Given the description of an element on the screen output the (x, y) to click on. 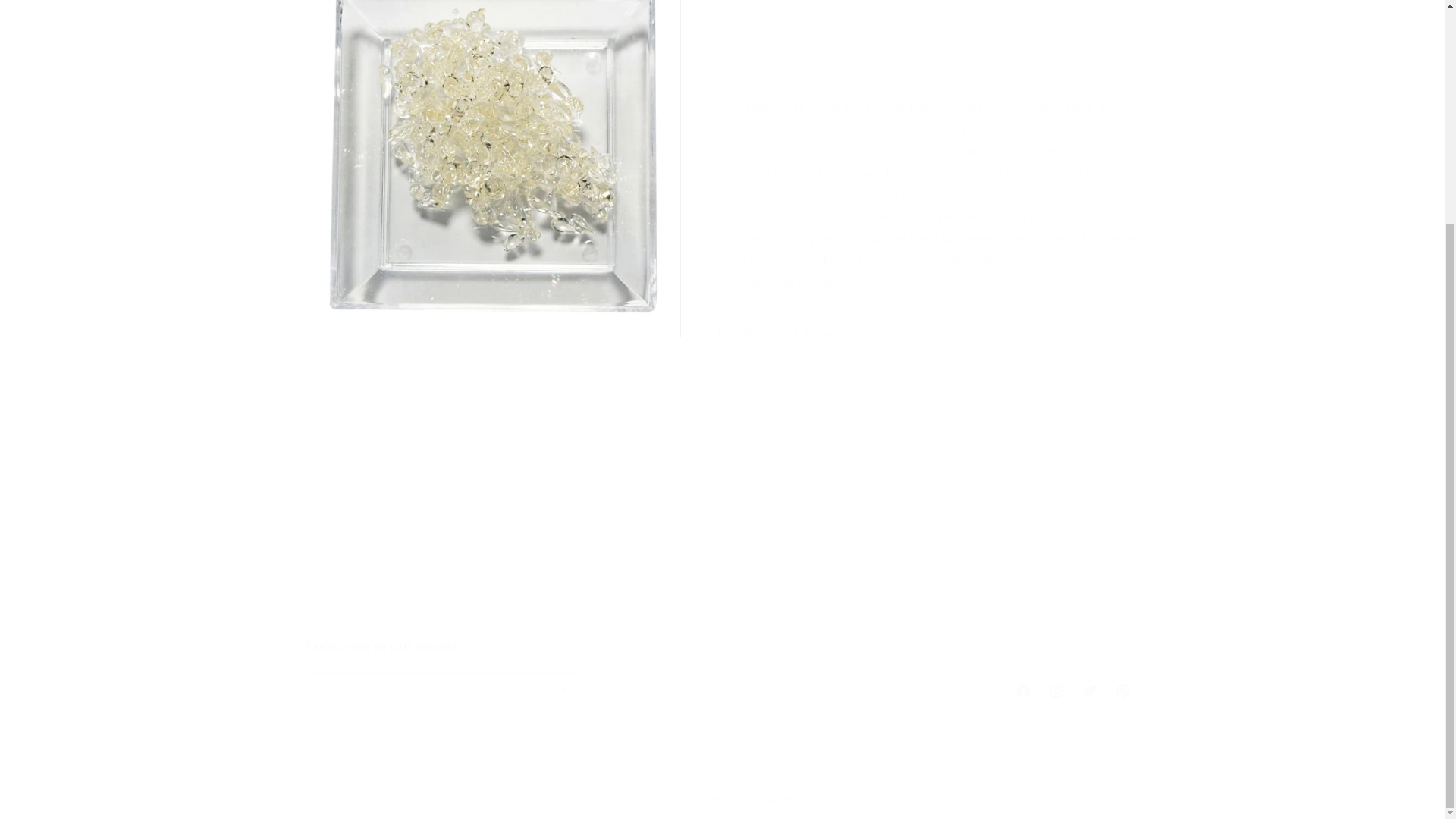
Open media 1 in modal (491, 91)
